Given the description of an element on the screen output the (x, y) to click on. 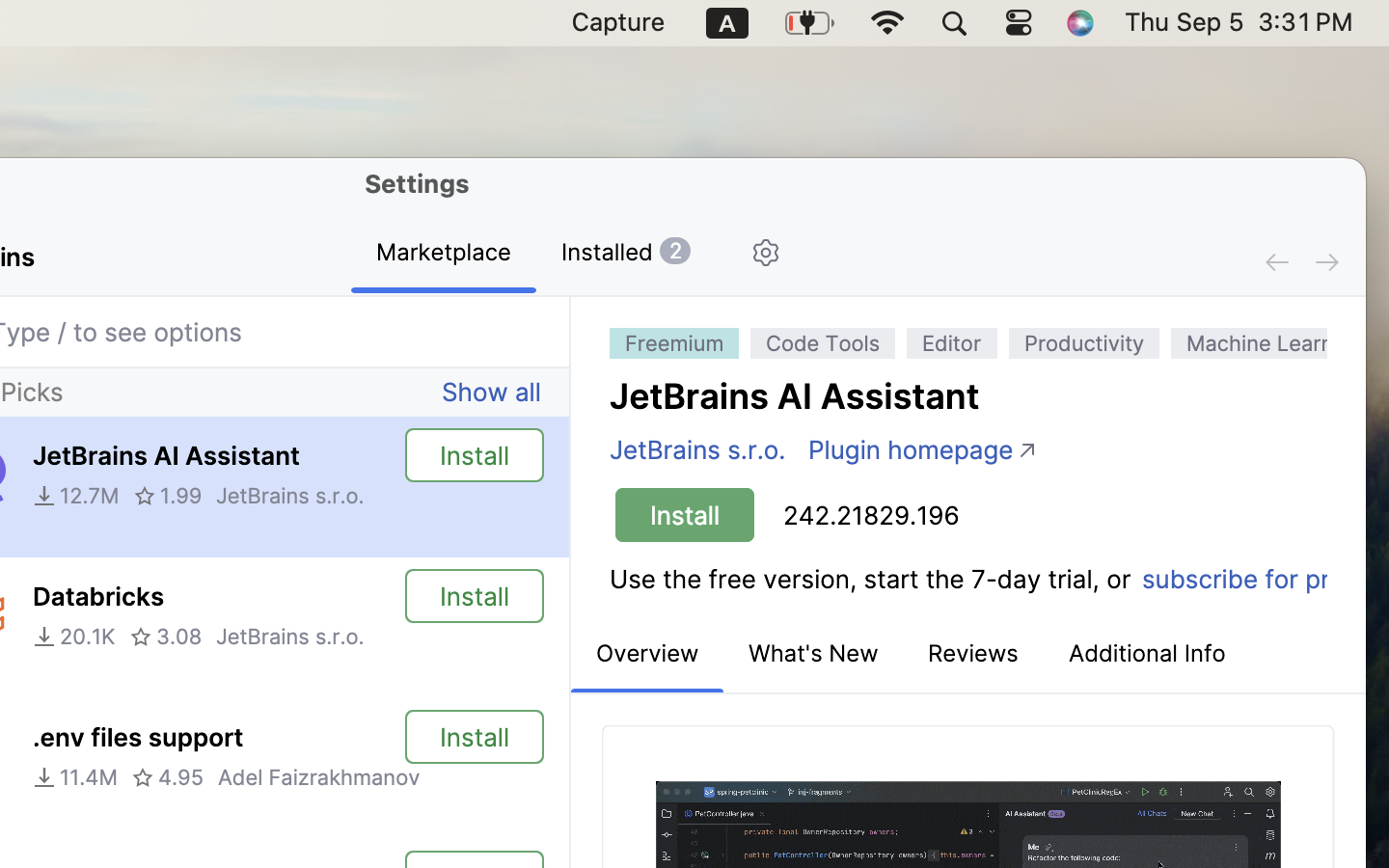
1.99 Element type: AXStaticText (167, 495)
12.7M Element type: AXStaticText (75, 495)
242.21829.196 Element type: AXTextField (871, 515)
4.95 Element type: AXStaticText (167, 776)
JetBrains s.r.o. Element type: AXStaticText (290, 636)
